Given the description of an element on the screen output the (x, y) to click on. 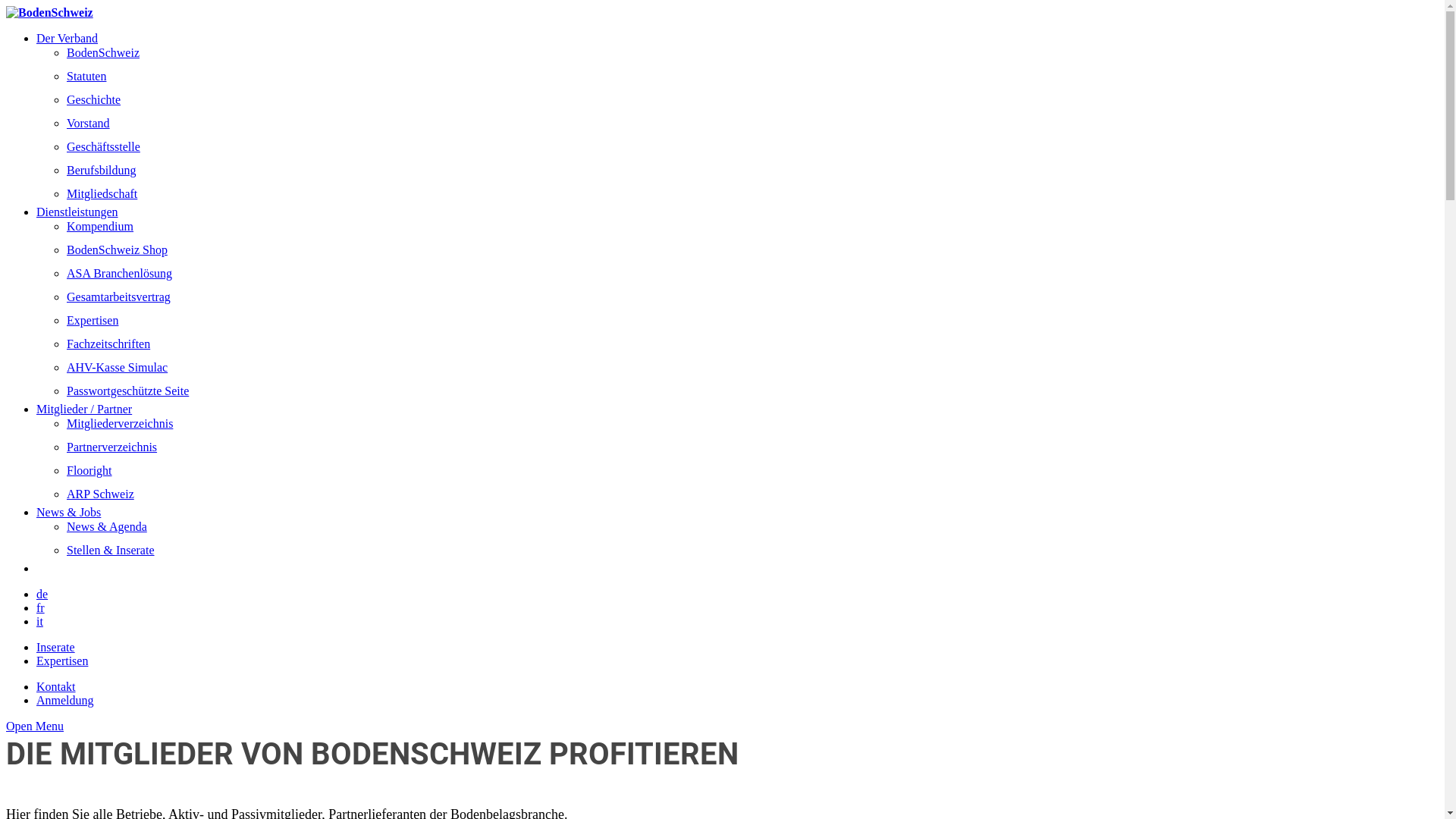
Berufsbildung Element type: text (101, 169)
Vorstand Element type: text (87, 122)
Dienstleistungen Element type: text (77, 211)
News & Jobs Element type: text (68, 511)
Mitgliedschaft Element type: text (101, 193)
Geschichte Element type: text (93, 99)
BodenSchweiz Shop Element type: text (116, 249)
Anmeldung Element type: text (65, 699)
Fachzeitschriften Element type: text (108, 343)
Expertisen Element type: text (92, 319)
Mitgliederverzeichnis Element type: text (119, 423)
Open Menu Element type: text (34, 725)
Flooright Element type: text (89, 470)
AHV-Kasse Simulac Element type: text (116, 366)
Partnerverzeichnis Element type: text (111, 446)
Inserate Element type: text (55, 646)
Der Verband Element type: text (66, 37)
de Element type: text (41, 593)
Mitglieder / Partner Element type: text (83, 408)
Gesamtarbeitsvertrag Element type: text (118, 296)
Kompendium Element type: text (99, 225)
BodenSchweiz Element type: text (102, 52)
Kontakt Element type: text (55, 686)
ARP Schweiz Element type: text (100, 493)
it Element type: text (39, 621)
Statuten Element type: text (86, 75)
fr Element type: text (40, 607)
News & Agenda Element type: text (106, 526)
Expertisen Element type: text (61, 660)
Stellen & Inserate Element type: text (110, 549)
